Given the description of an element on the screen output the (x, y) to click on. 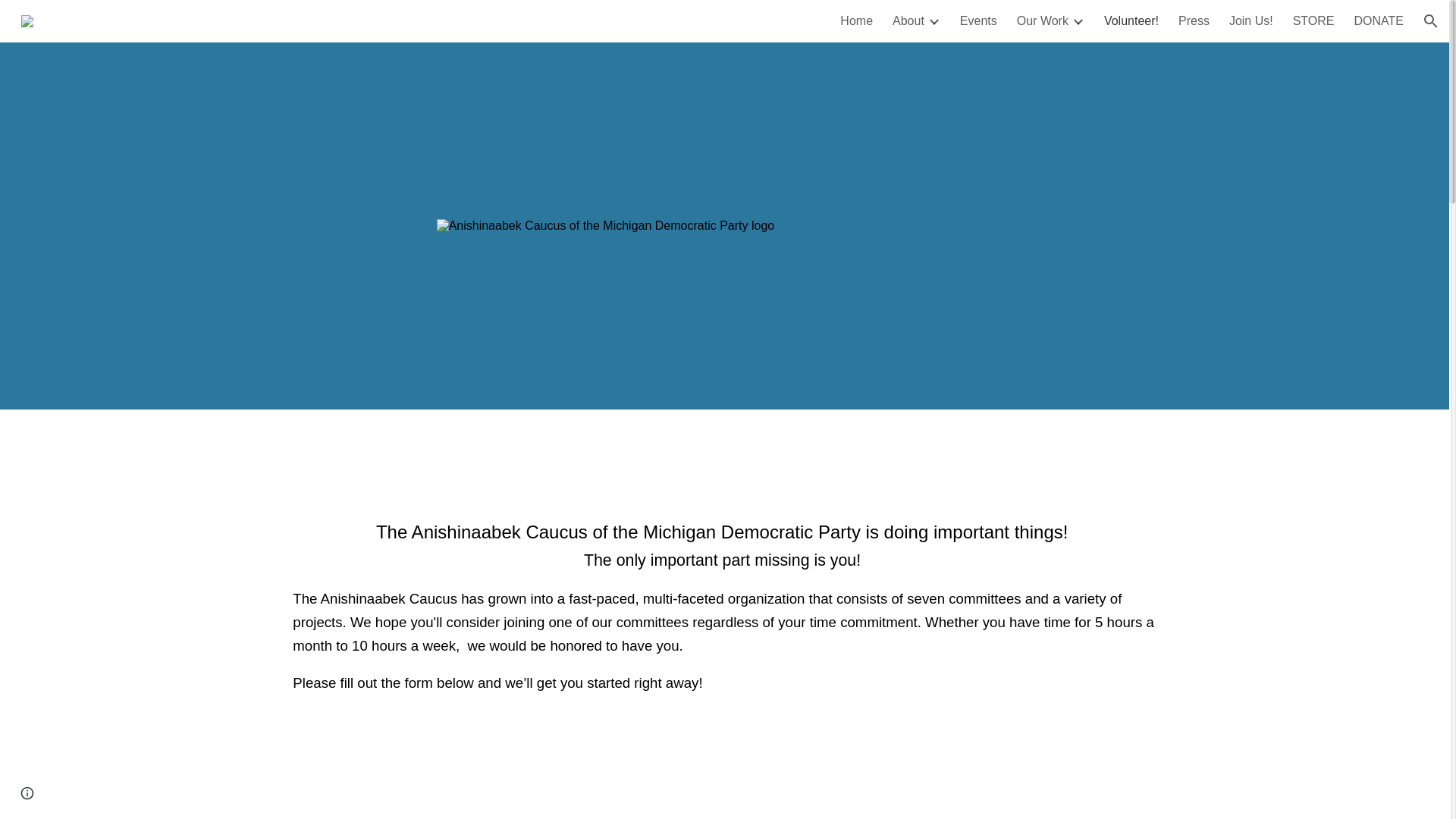
Home (856, 20)
Our Work (1042, 20)
Events (978, 20)
About (908, 20)
